Given the description of an element on the screen output the (x, y) to click on. 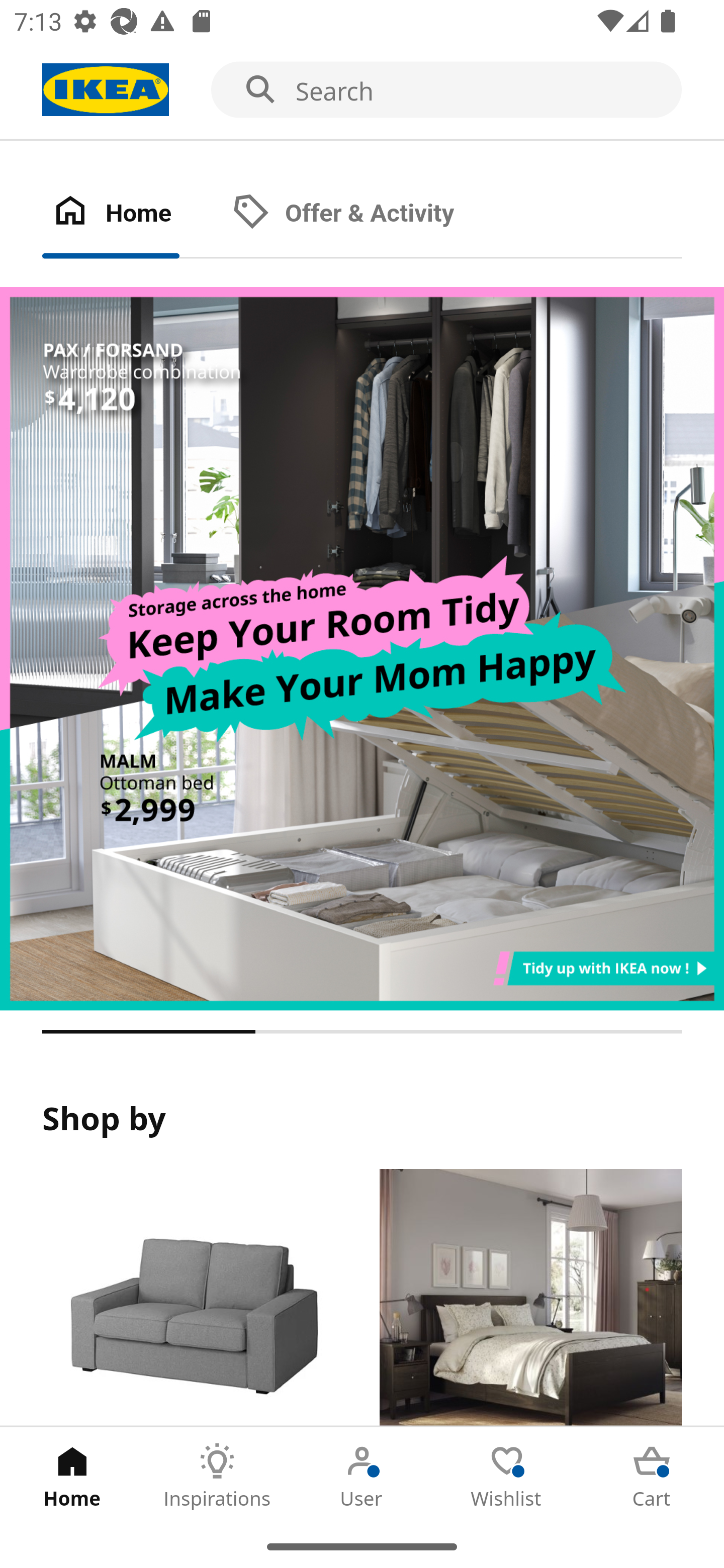
Search (361, 90)
Home
Tab 1 of 2 (131, 213)
Offer & Activity
Tab 2 of 2 (363, 213)
Products (192, 1297)
Rooms (530, 1297)
Home
Tab 1 of 5 (72, 1476)
Inspirations
Tab 2 of 5 (216, 1476)
User
Tab 3 of 5 (361, 1476)
Wishlist
Tab 4 of 5 (506, 1476)
Cart
Tab 5 of 5 (651, 1476)
